Given the description of an element on the screen output the (x, y) to click on. 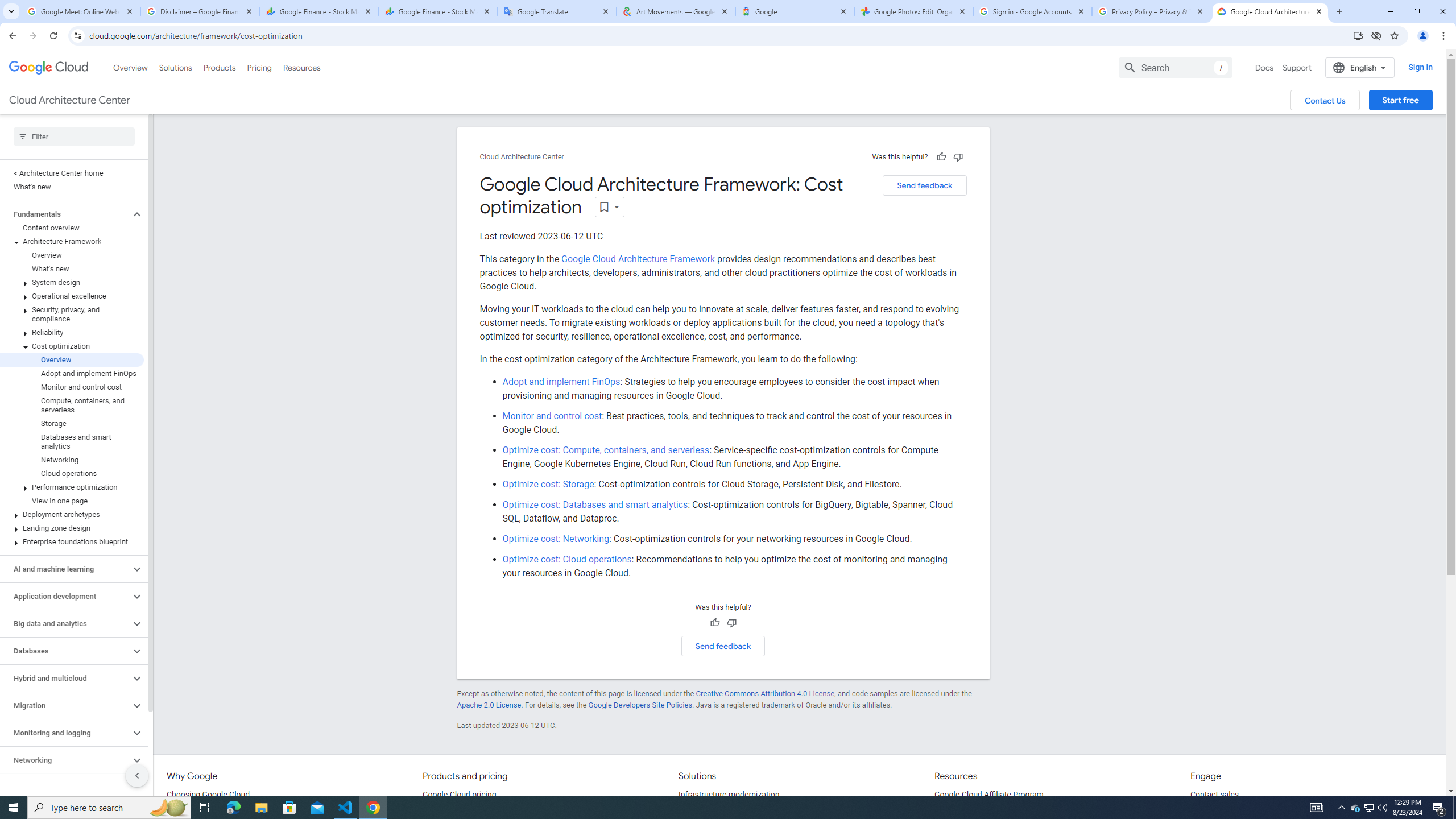
View in one page (72, 500)
Sign in - Google Accounts (1032, 11)
Monitoring and logging (64, 732)
